Given the description of an element on the screen output the (x, y) to click on. 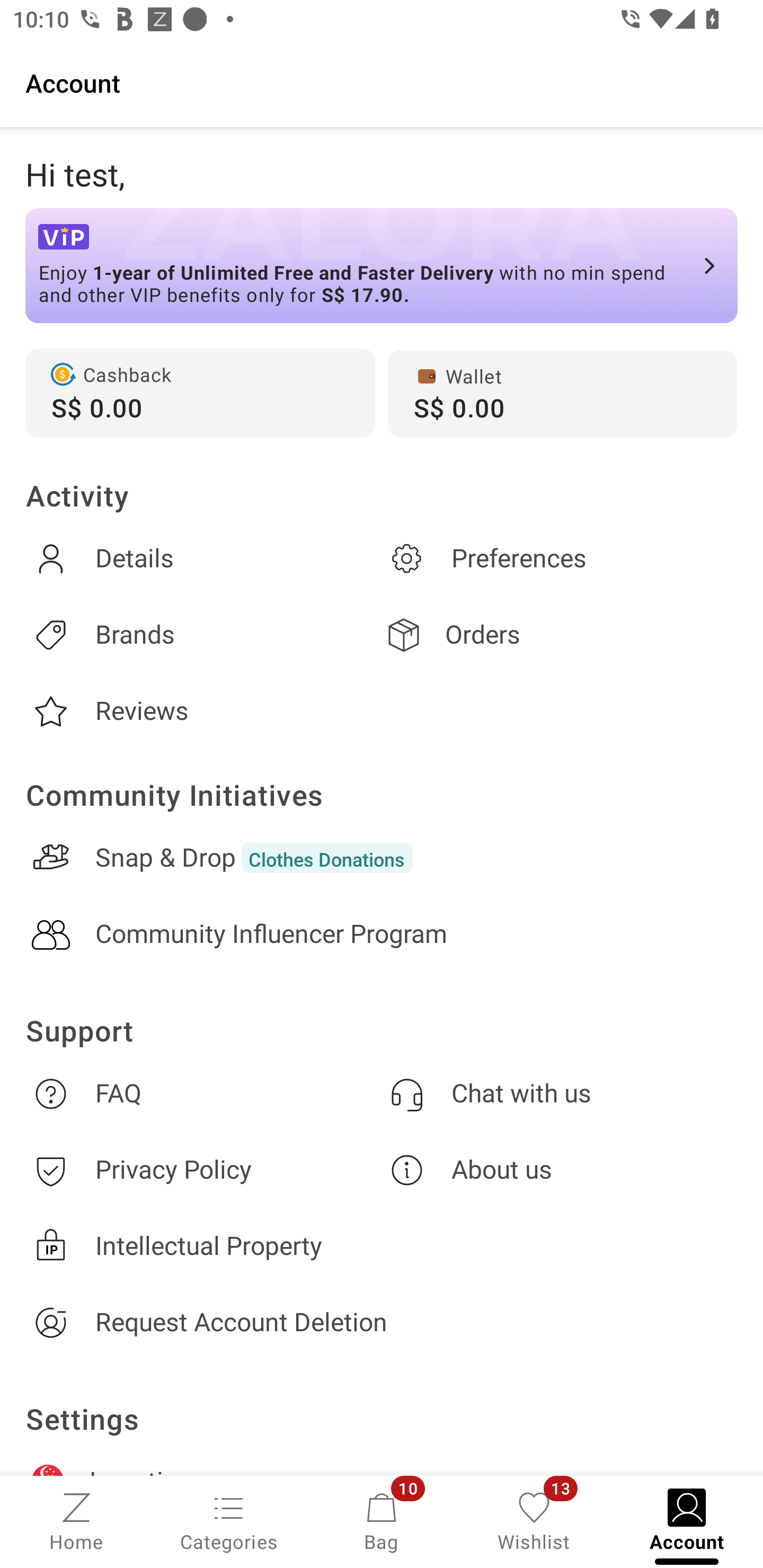
Account (381, 82)
Details (203, 558)
Preferences (559, 558)
Brands (203, 634)
Orders (559, 634)
Reviews (203, 710)
Snap & DropClothes Donations (381, 858)
Community Influencer Program (381, 934)
FAQ (203, 1093)
Chat with us (559, 1093)
Privacy Policy (203, 1170)
About us (559, 1170)
Intellectual Property (381, 1246)
Request Account Deletion (381, 1322)
Home (76, 1519)
Categories (228, 1519)
Bag, 10 new notifications Bag (381, 1519)
Wishlist, 13 new notifications Wishlist (533, 1519)
